Given the description of an element on the screen output the (x, y) to click on. 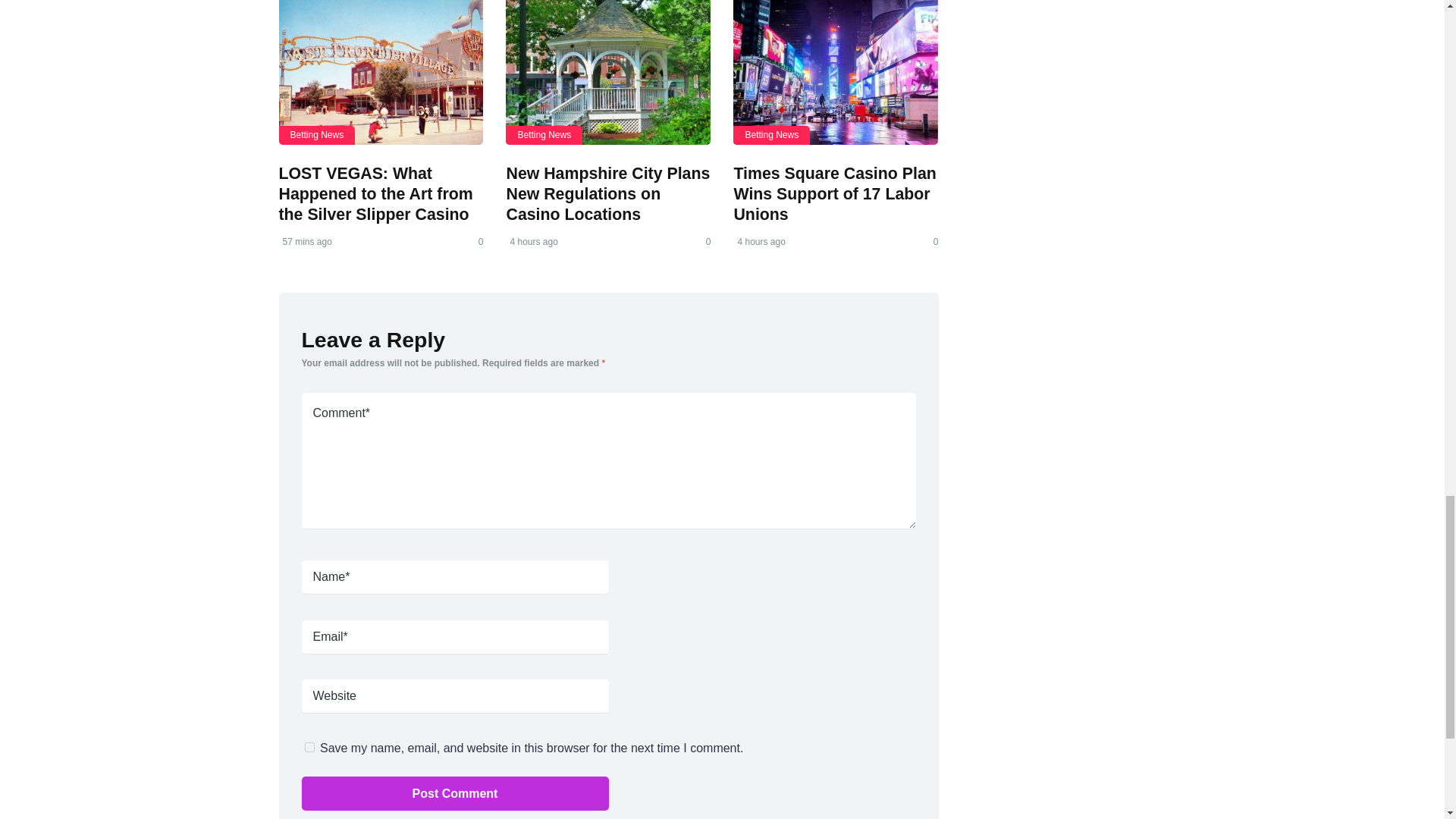
Post Comment (454, 793)
Times Square Casino Plan Wins Support of 17 Labor Unions (835, 72)
New Hampshire City Plans New Regulations on Casino Locations (607, 72)
Betting News (317, 135)
New Hampshire City Plans New Regulations on Casino Locations (607, 193)
Times Square Casino Plan Wins Support of 17 Labor Unions (834, 193)
yes (309, 747)
